Given the description of an element on the screen output the (x, y) to click on. 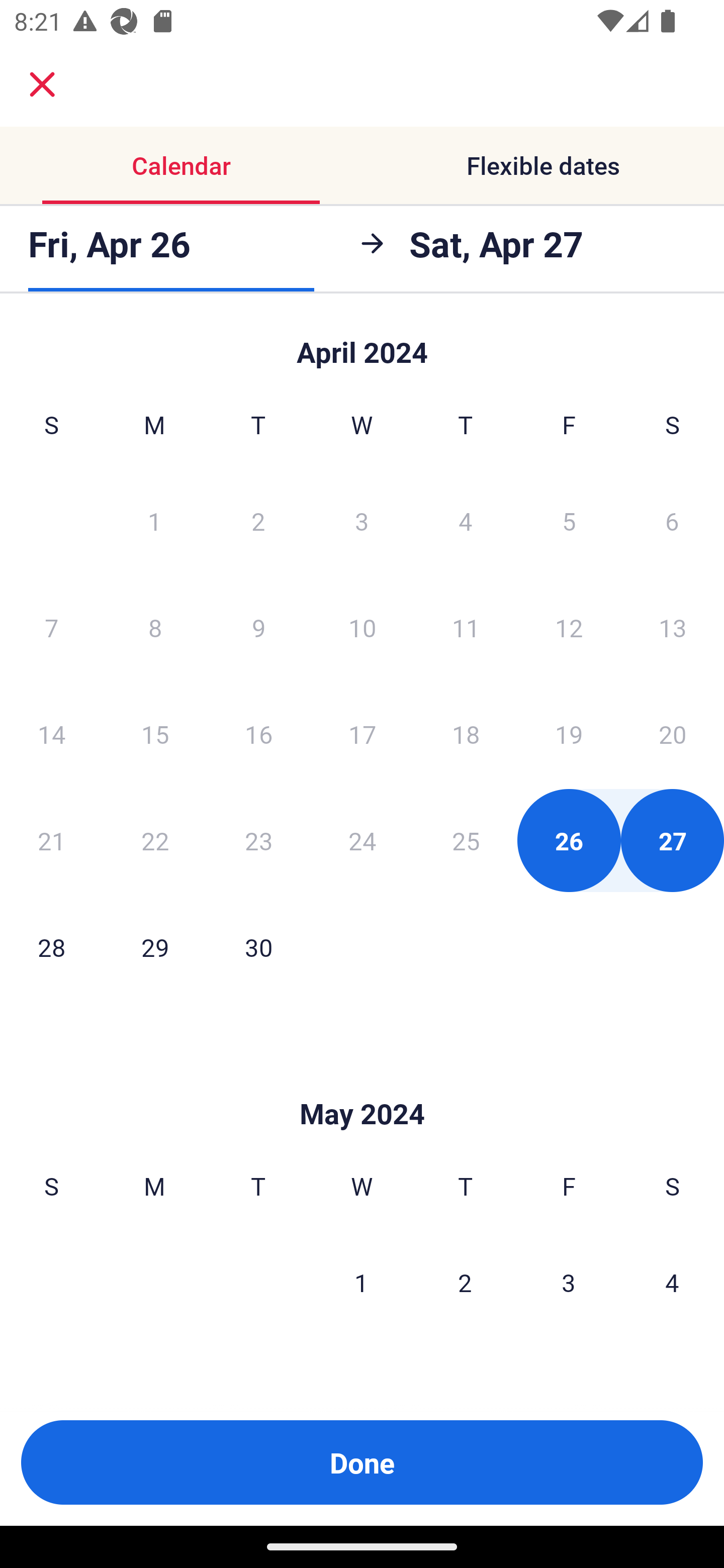
close. (42, 84)
Flexible dates (542, 164)
Skip to Done (362, 343)
1 Monday, April 1, 2024 (154, 520)
2 Tuesday, April 2, 2024 (257, 520)
3 Wednesday, April 3, 2024 (361, 520)
4 Thursday, April 4, 2024 (465, 520)
5 Friday, April 5, 2024 (568, 520)
6 Saturday, April 6, 2024 (672, 520)
7 Sunday, April 7, 2024 (51, 626)
8 Monday, April 8, 2024 (155, 626)
9 Tuesday, April 9, 2024 (258, 626)
10 Wednesday, April 10, 2024 (362, 626)
11 Thursday, April 11, 2024 (465, 626)
12 Friday, April 12, 2024 (569, 626)
13 Saturday, April 13, 2024 (672, 626)
14 Sunday, April 14, 2024 (51, 733)
15 Monday, April 15, 2024 (155, 733)
16 Tuesday, April 16, 2024 (258, 733)
17 Wednesday, April 17, 2024 (362, 733)
18 Thursday, April 18, 2024 (465, 733)
19 Friday, April 19, 2024 (569, 733)
20 Saturday, April 20, 2024 (672, 733)
21 Sunday, April 21, 2024 (51, 840)
22 Monday, April 22, 2024 (155, 840)
23 Tuesday, April 23, 2024 (258, 840)
24 Wednesday, April 24, 2024 (362, 840)
25 Thursday, April 25, 2024 (465, 840)
28 Sunday, April 28, 2024 (51, 946)
29 Monday, April 29, 2024 (155, 946)
30 Tuesday, April 30, 2024 (258, 946)
Skip to Done (362, 1083)
1 Wednesday, May 1, 2024 (361, 1282)
2 Thursday, May 2, 2024 (464, 1282)
3 Friday, May 3, 2024 (568, 1282)
4 Saturday, May 4, 2024 (672, 1282)
Done (361, 1462)
